Given the description of an element on the screen output the (x, y) to click on. 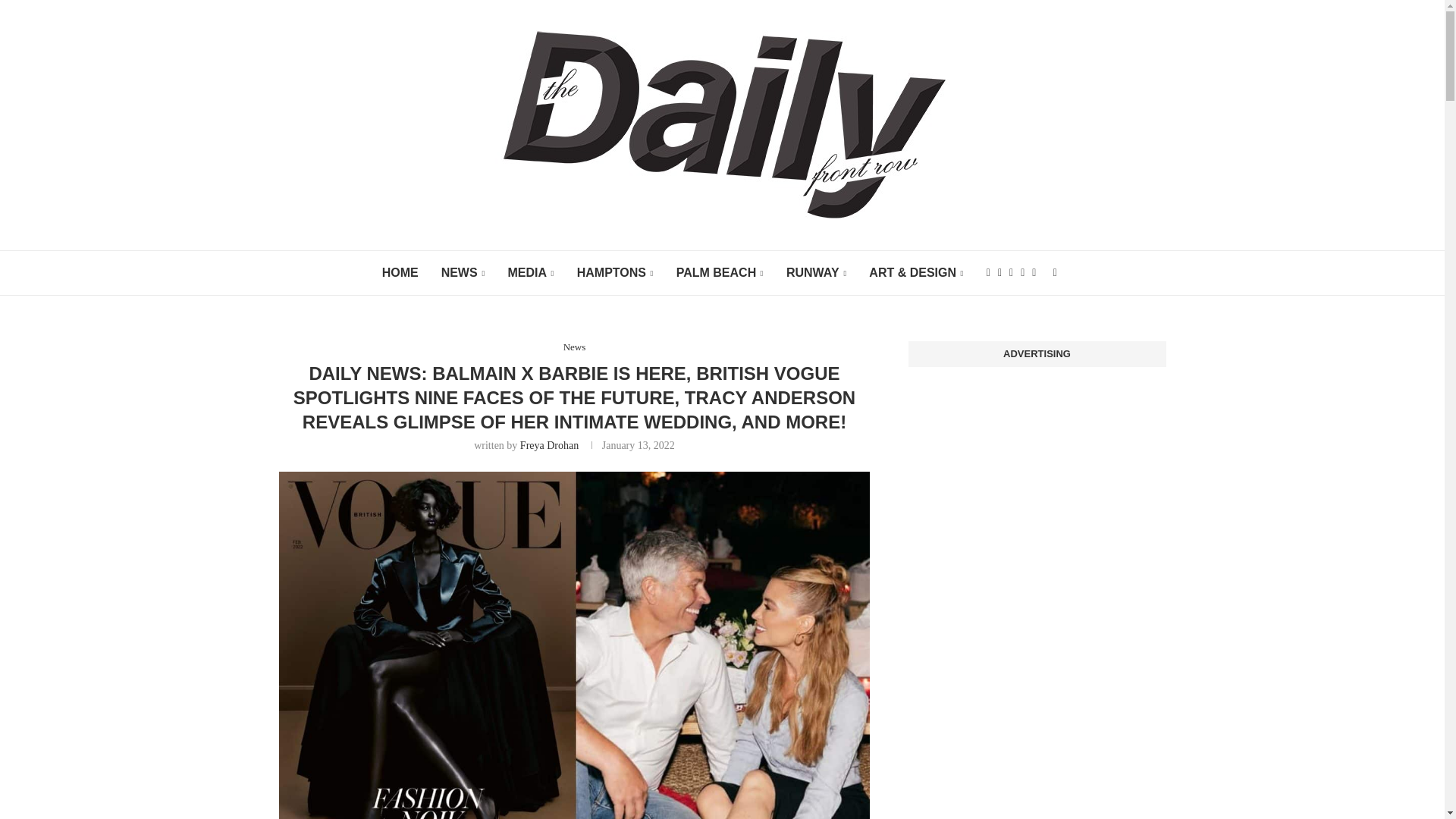
RUNWAY (815, 272)
NEWS (462, 272)
MEDIA (529, 272)
HAMPTONS (614, 272)
Freya Drohan (548, 445)
PALM BEACH (719, 272)
News (574, 346)
